Given the description of an element on the screen output the (x, y) to click on. 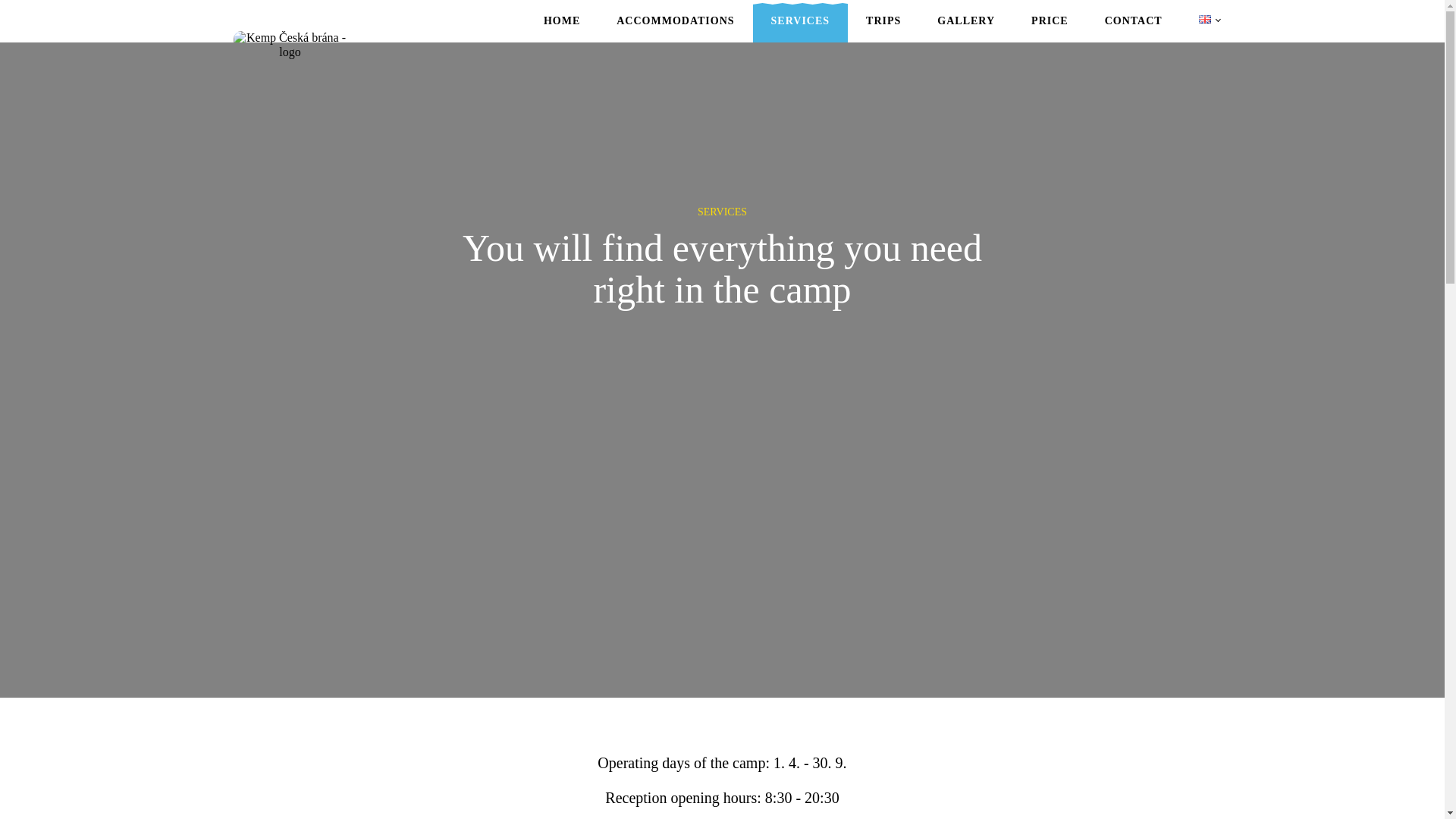
CONTACT (1133, 29)
PRICE (1049, 29)
SERVICES (800, 29)
GALLERY (965, 29)
HOME (561, 29)
TRIPS (882, 29)
ACCOMMODATIONS (675, 29)
